Given the description of an element on the screen output the (x, y) to click on. 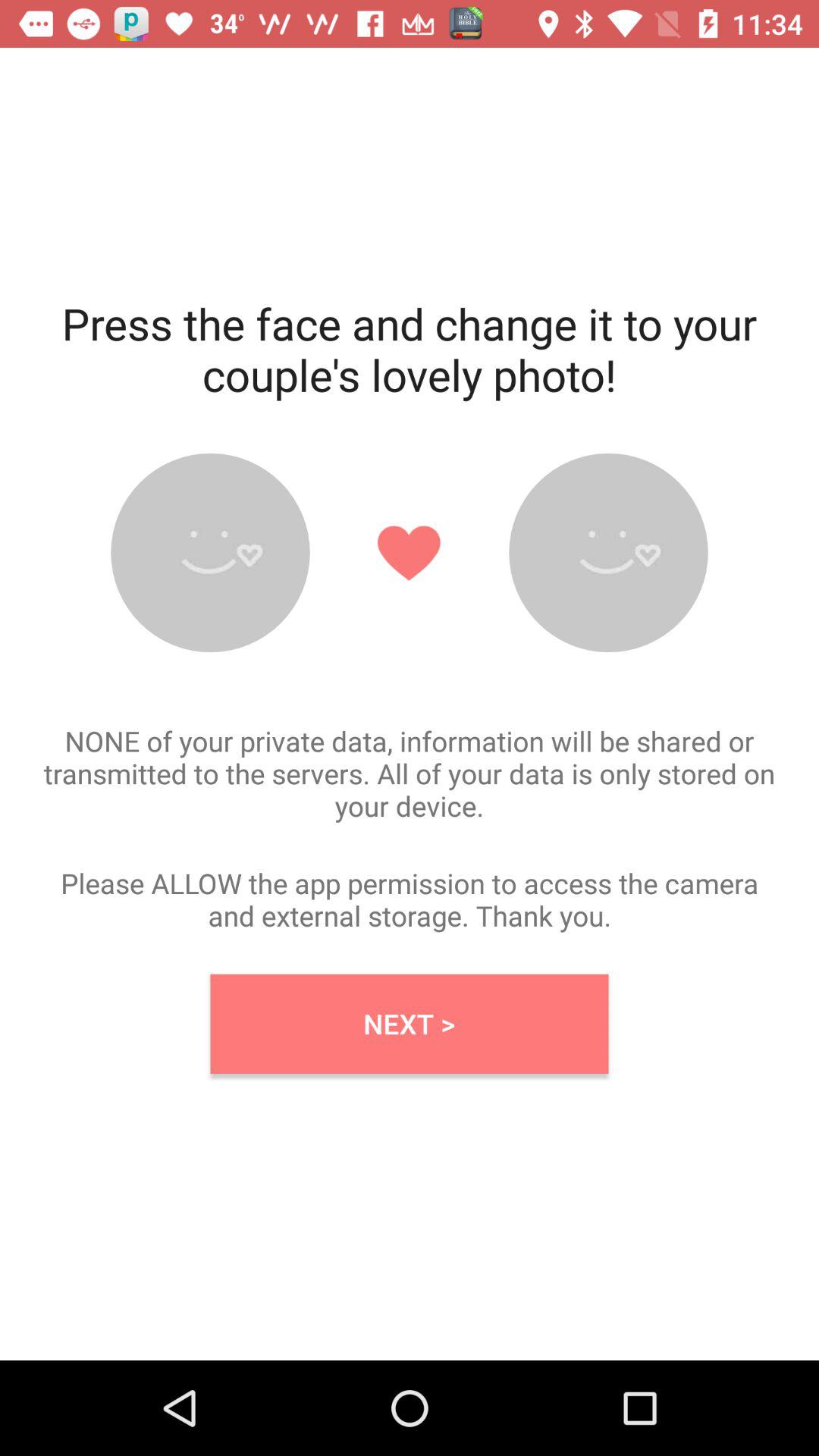
turn on the app below the please allow the app (409, 1023)
